Given the description of an element on the screen output the (x, y) to click on. 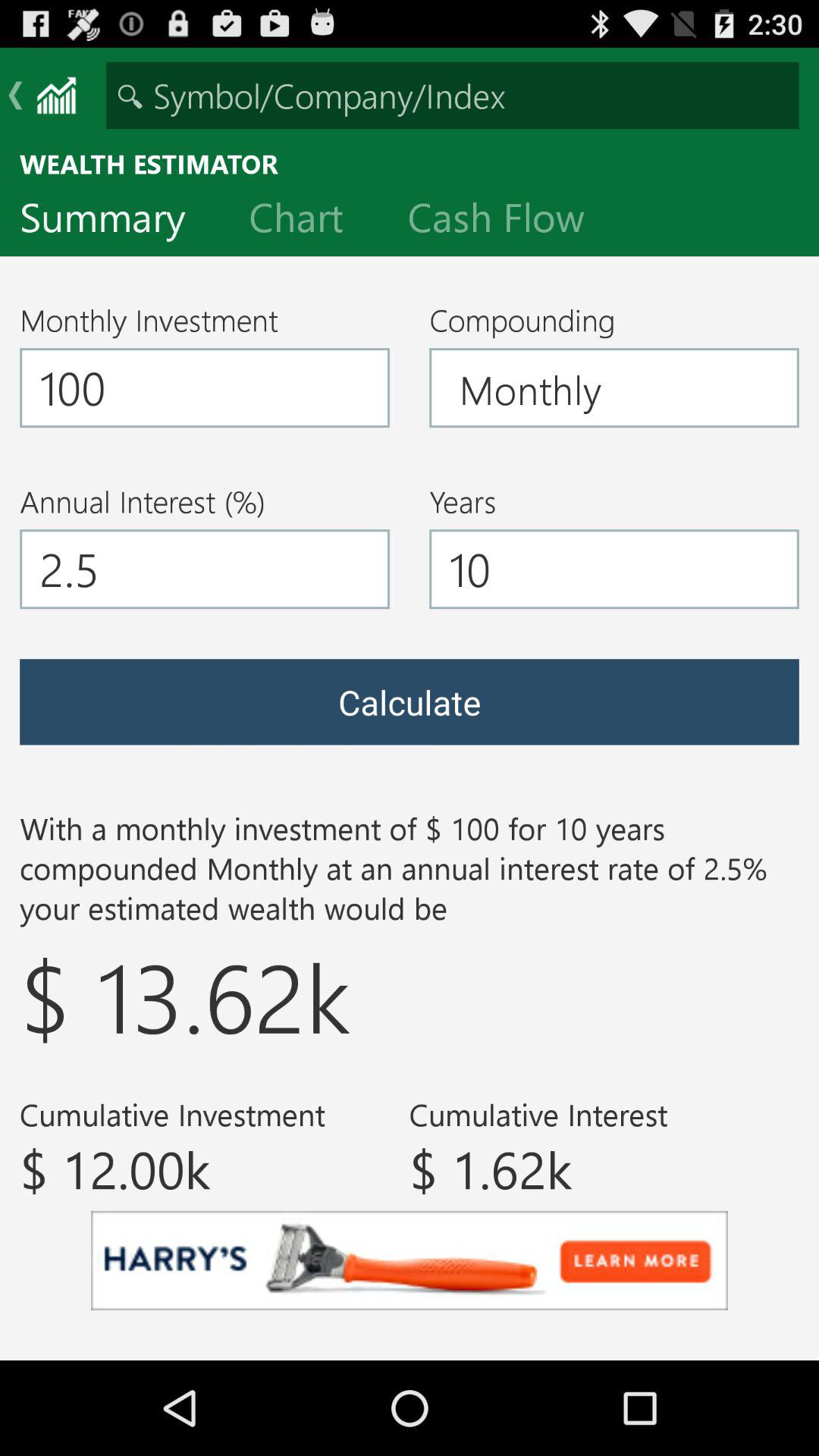
press icon next to the cash flow icon (308, 220)
